Given the description of an element on the screen output the (x, y) to click on. 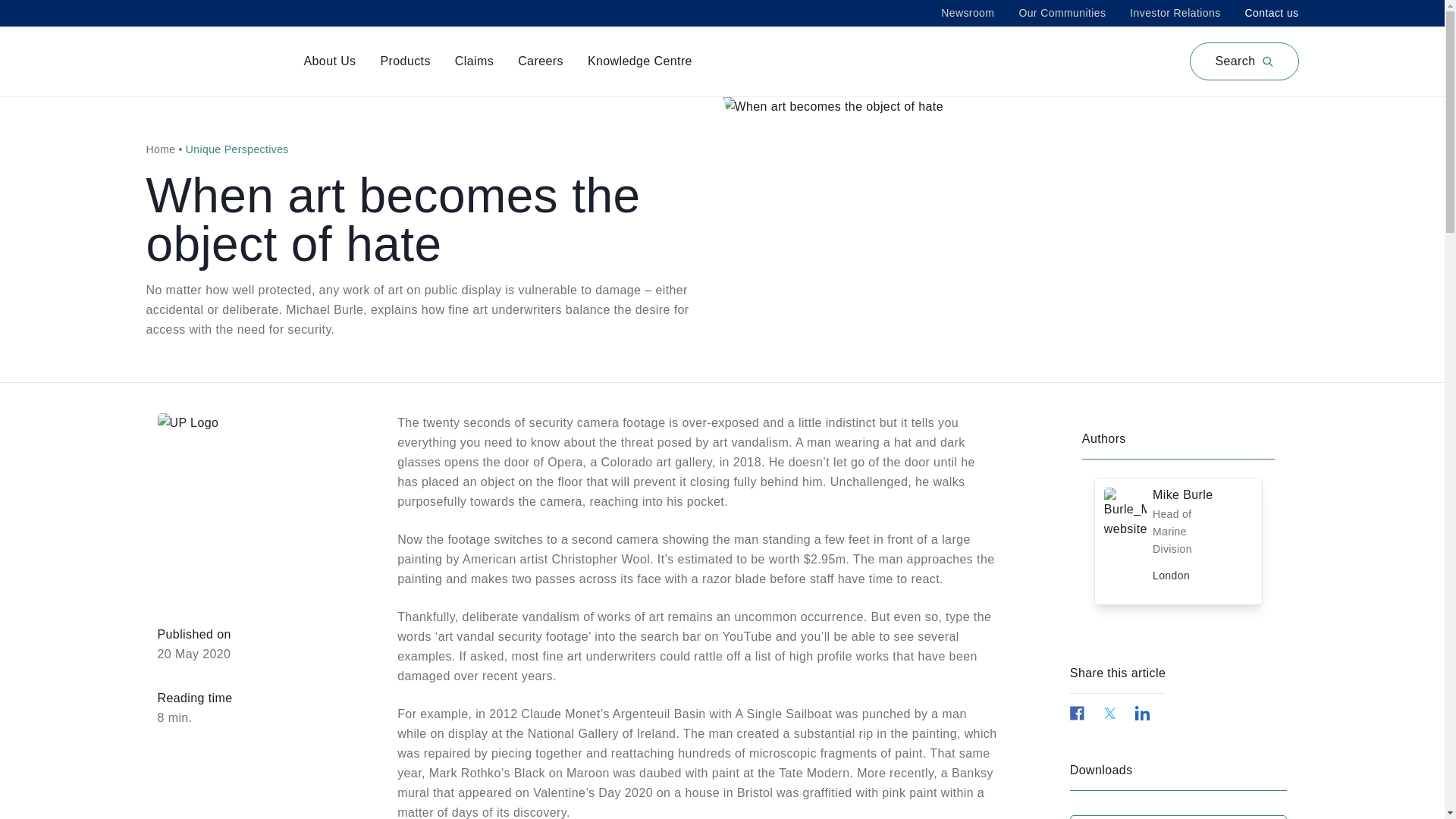
Our Communities (1061, 12)
Contact us (1271, 12)
Investor Relations (1174, 12)
About Us (328, 60)
Newsroom (967, 12)
